Given the description of an element on the screen output the (x, y) to click on. 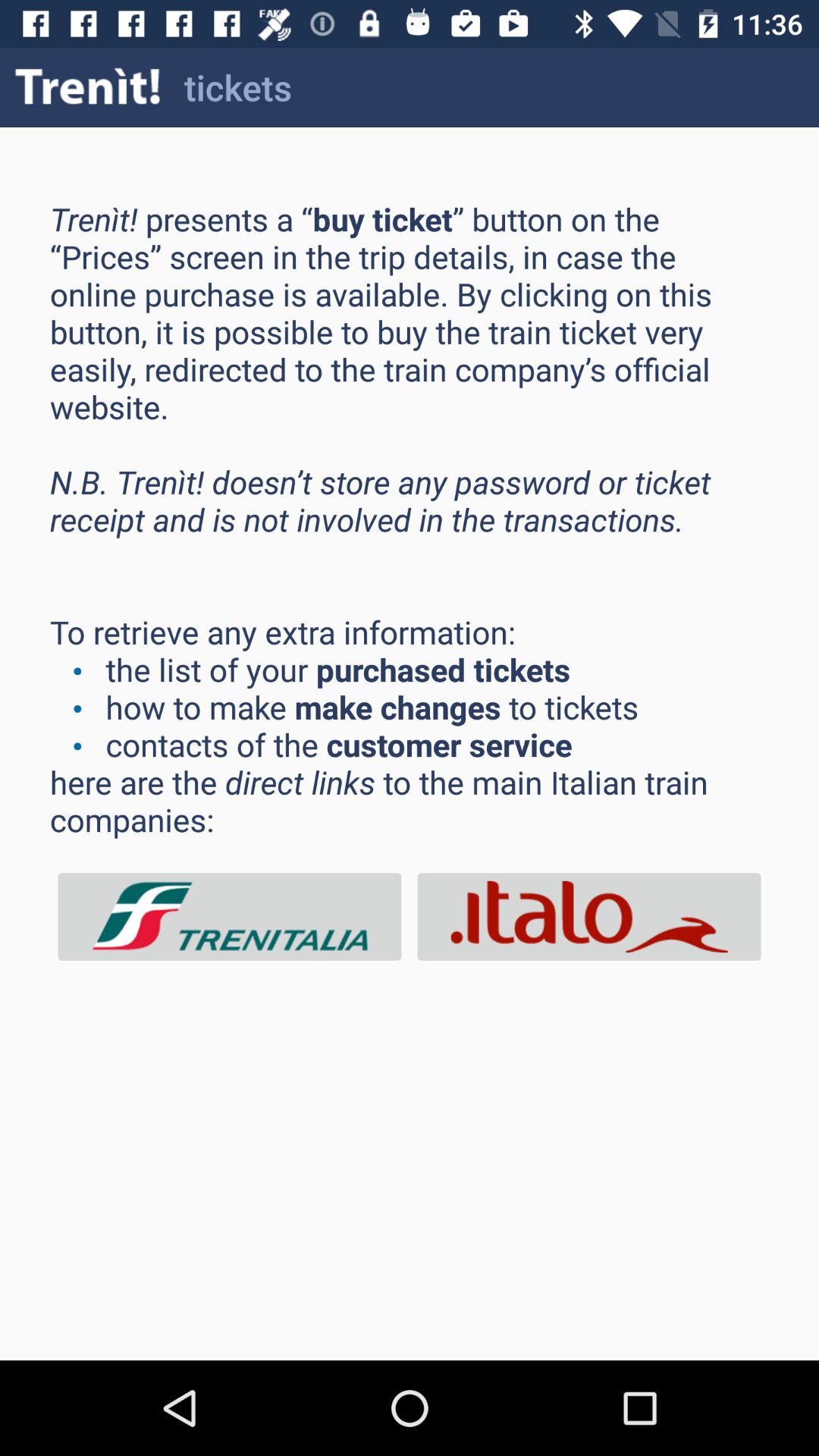
launch item on the right (588, 916)
